Given the description of an element on the screen output the (x, y) to click on. 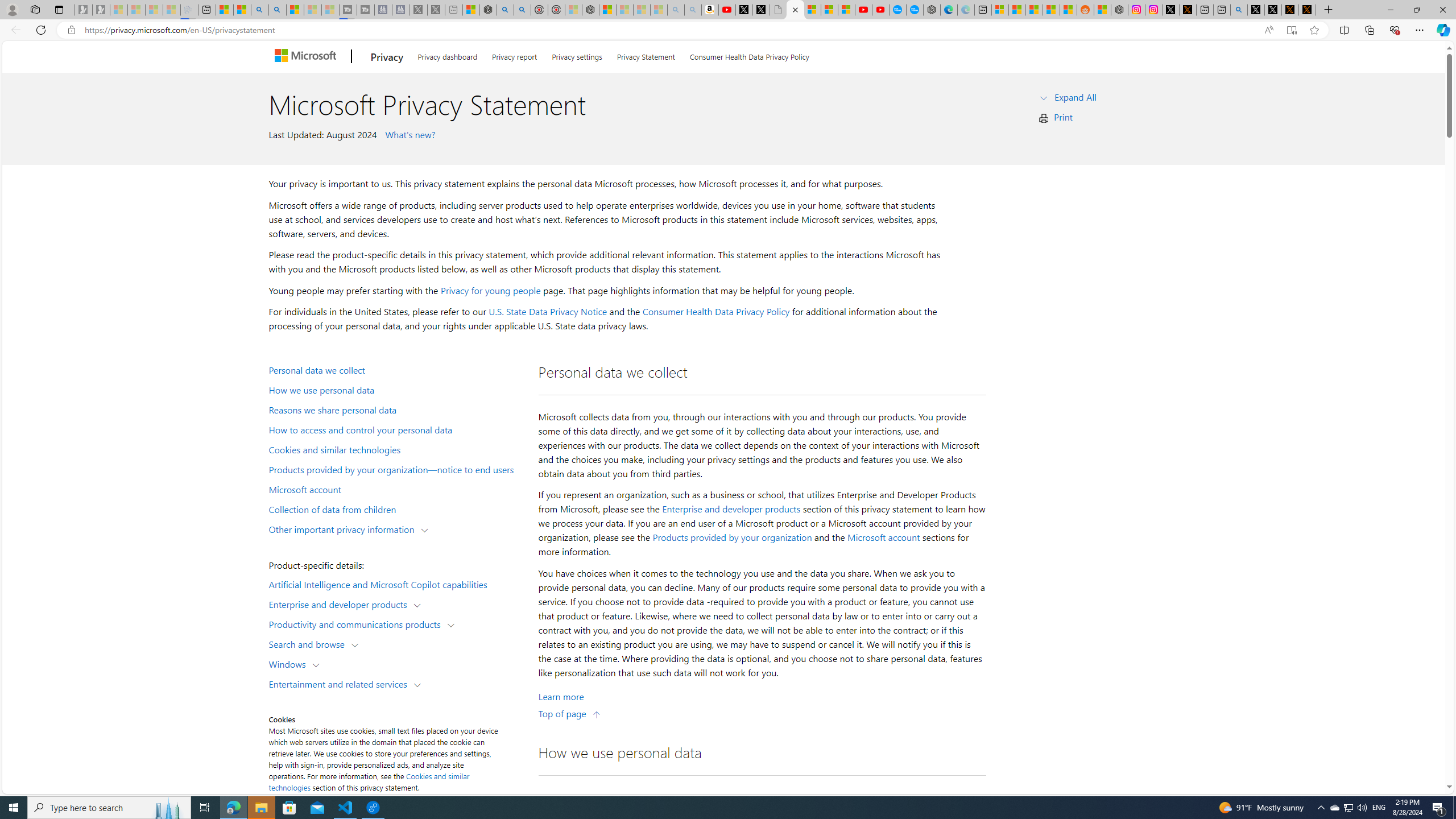
Windows (289, 663)
Learn More about Personal data we collect (560, 696)
Entertainment and related services (340, 683)
